Given the description of an element on the screen output the (x, y) to click on. 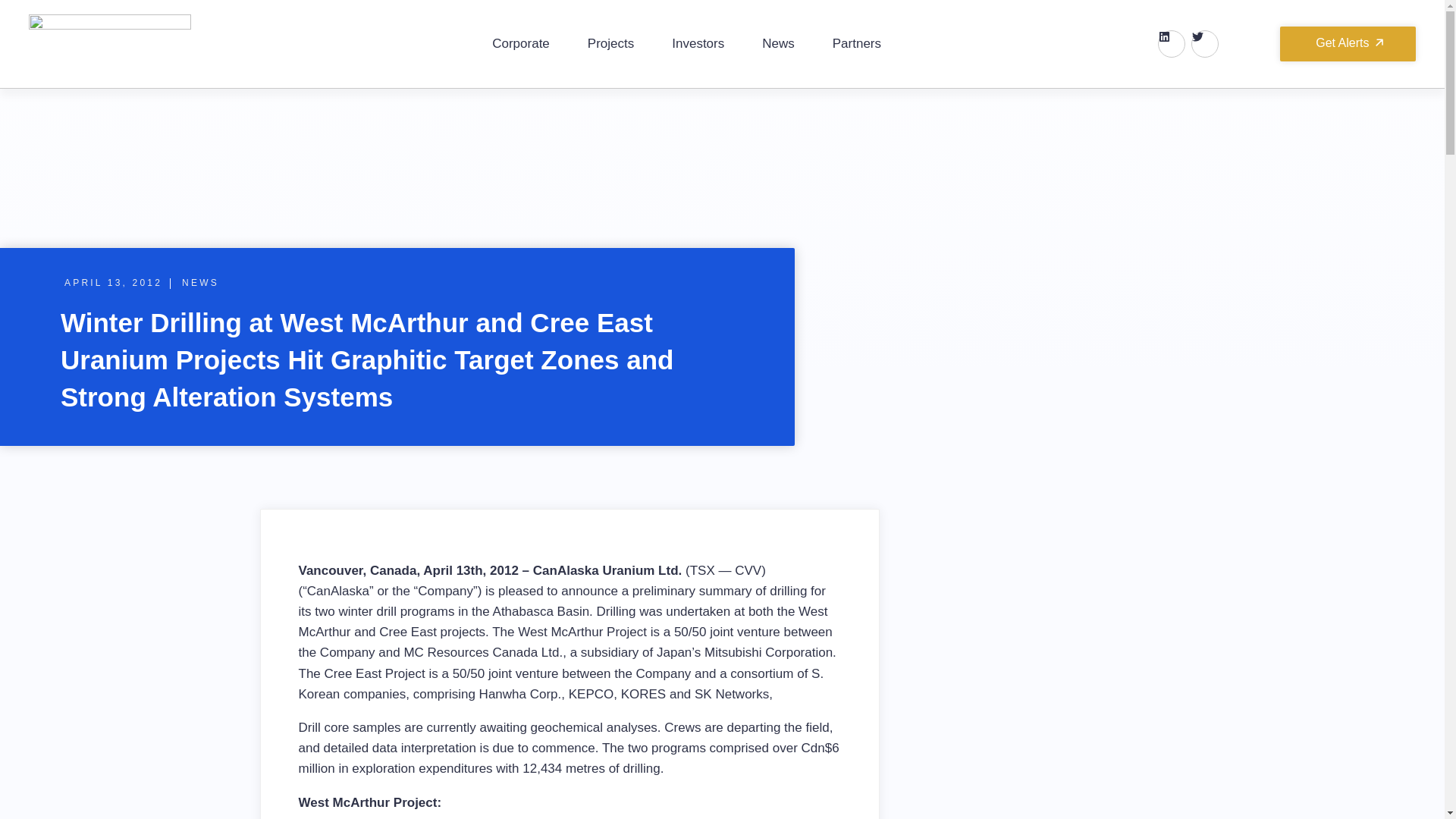
Investors (698, 43)
Get Alerts (1347, 43)
News (777, 43)
Partners (856, 43)
Projects (610, 43)
Corporate (520, 43)
